Given the description of an element on the screen output the (x, y) to click on. 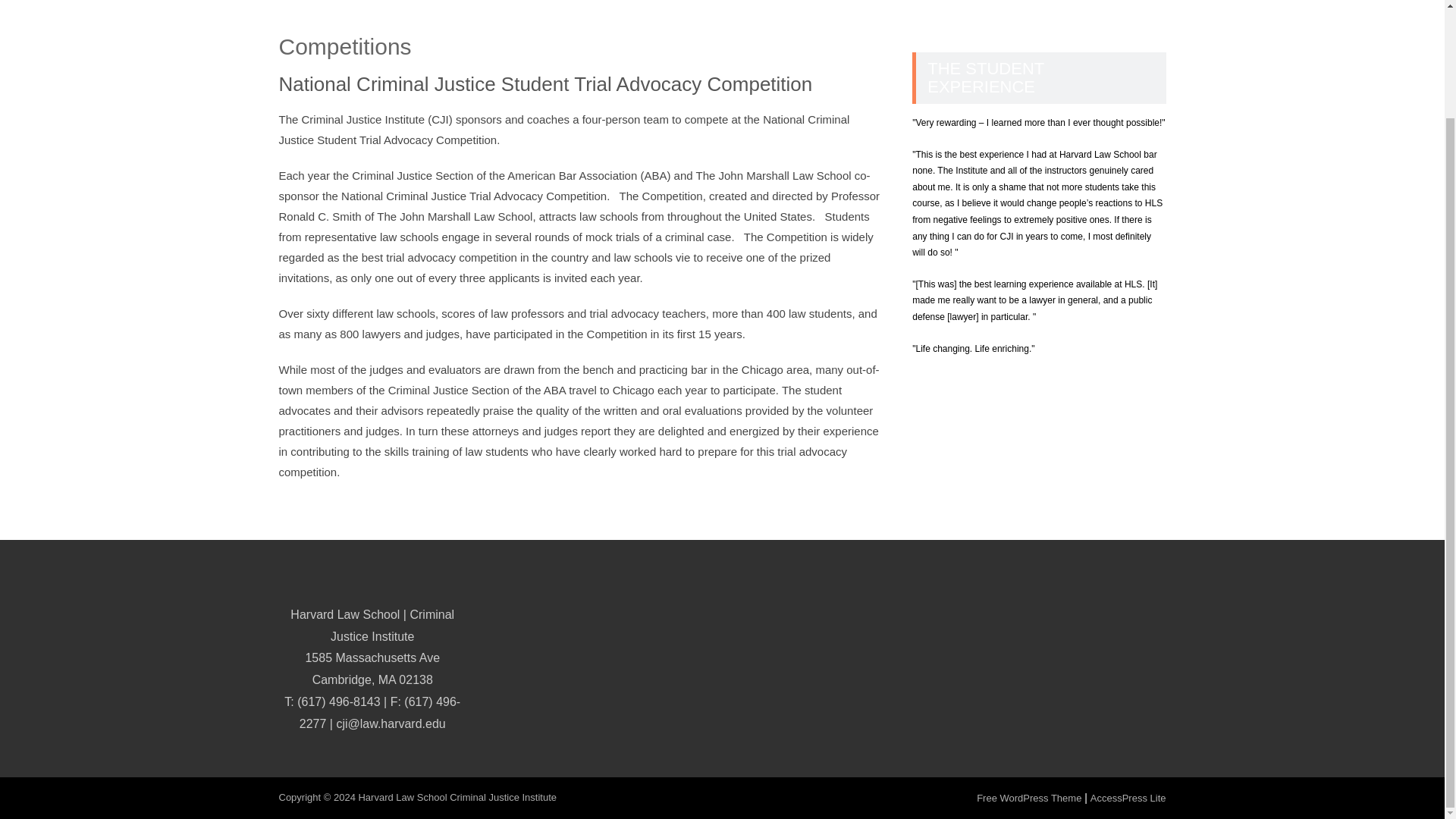
AccessPress Lite (1128, 797)
AccessPress Themes (1128, 797)
Resources (1079, 1)
Free WordPress Theme (1028, 797)
Harvard Law School Criminal Justice Institute (457, 797)
FAQ (1144, 1)
